Given the description of an element on the screen output the (x, y) to click on. 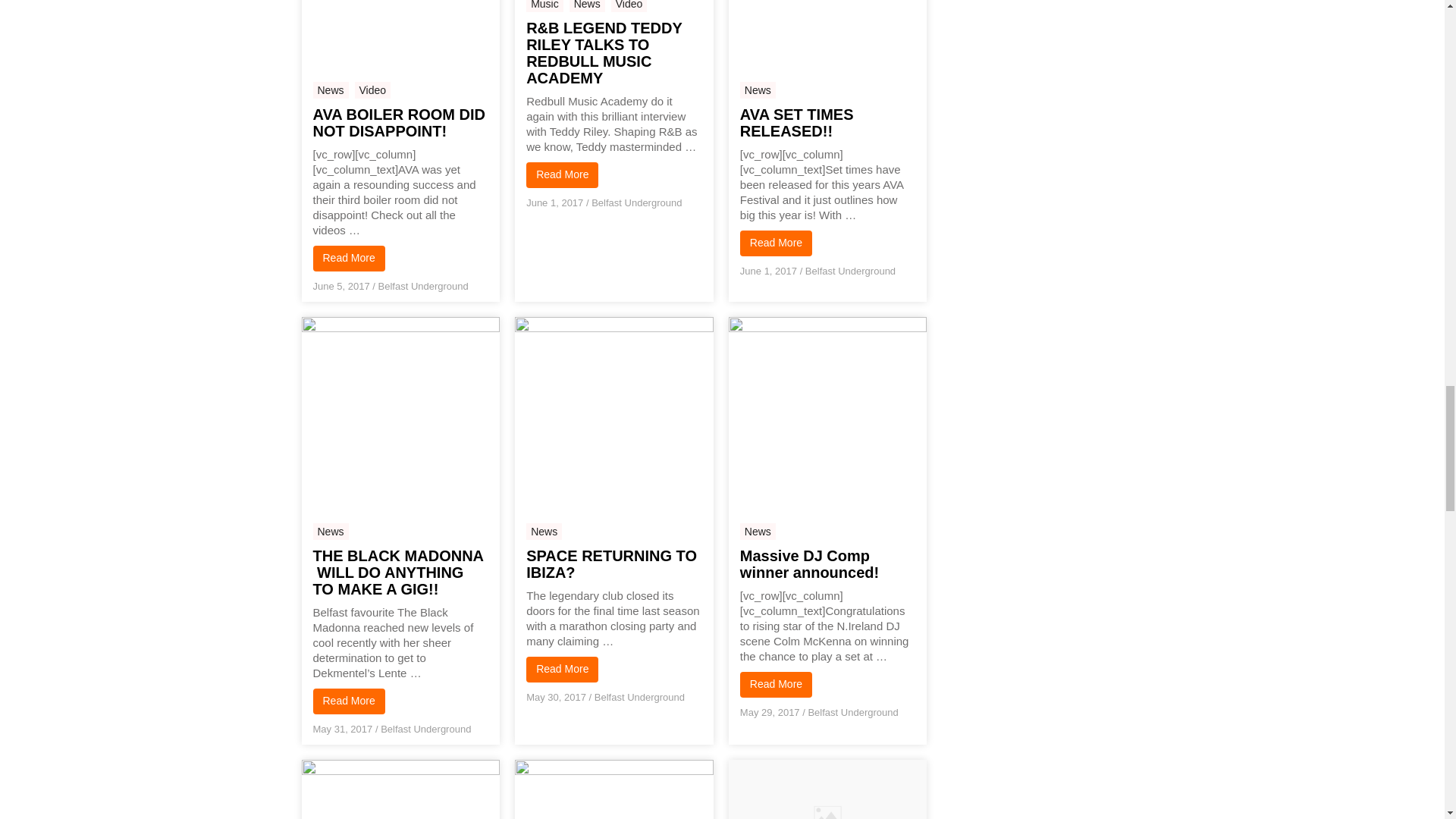
News (757, 89)
News (330, 89)
News (587, 6)
Music (544, 6)
Video (373, 89)
Video (629, 6)
